Given the description of an element on the screen output the (x, y) to click on. 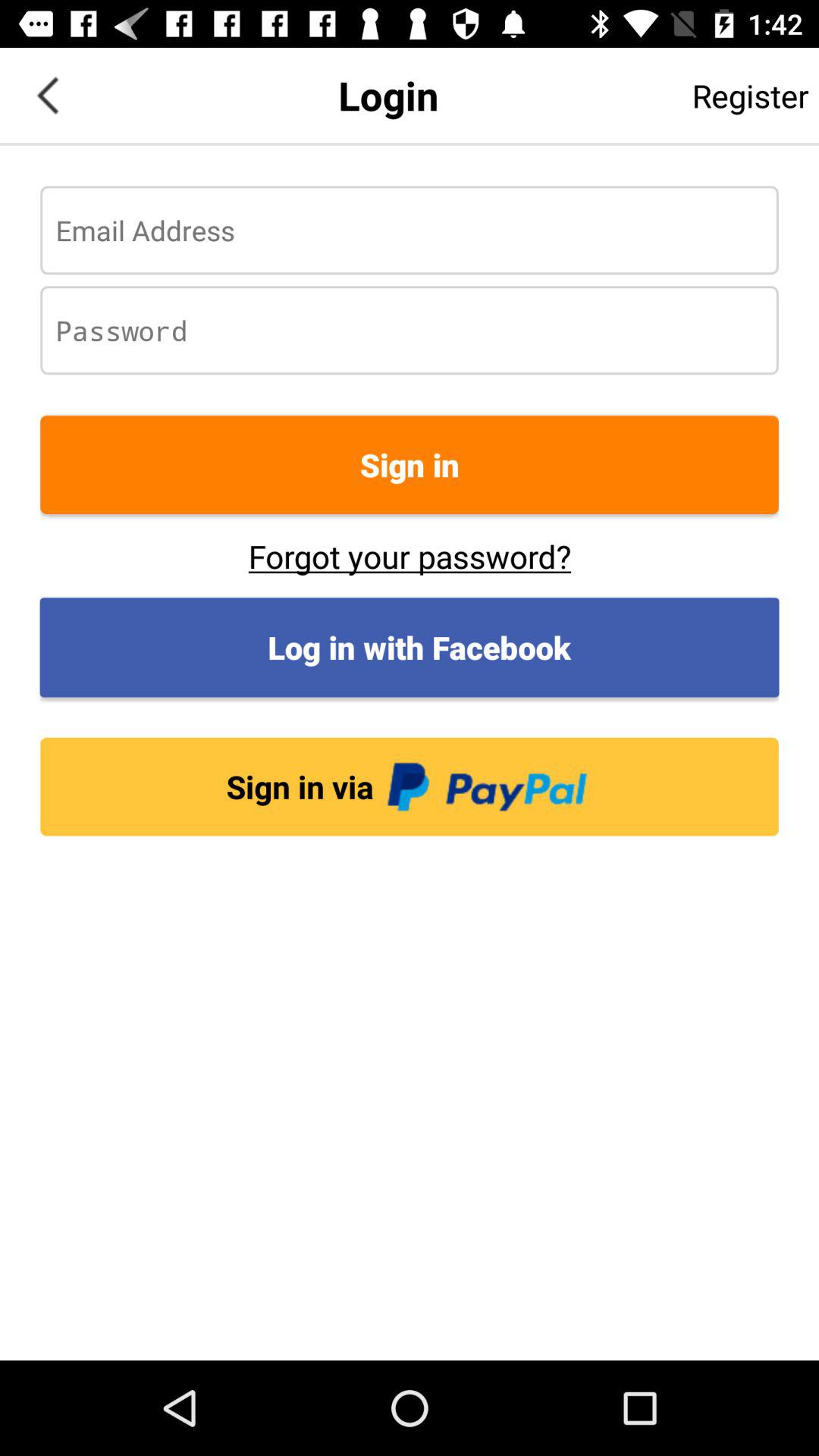
choose item above log in with item (409, 555)
